Given the description of an element on the screen output the (x, y) to click on. 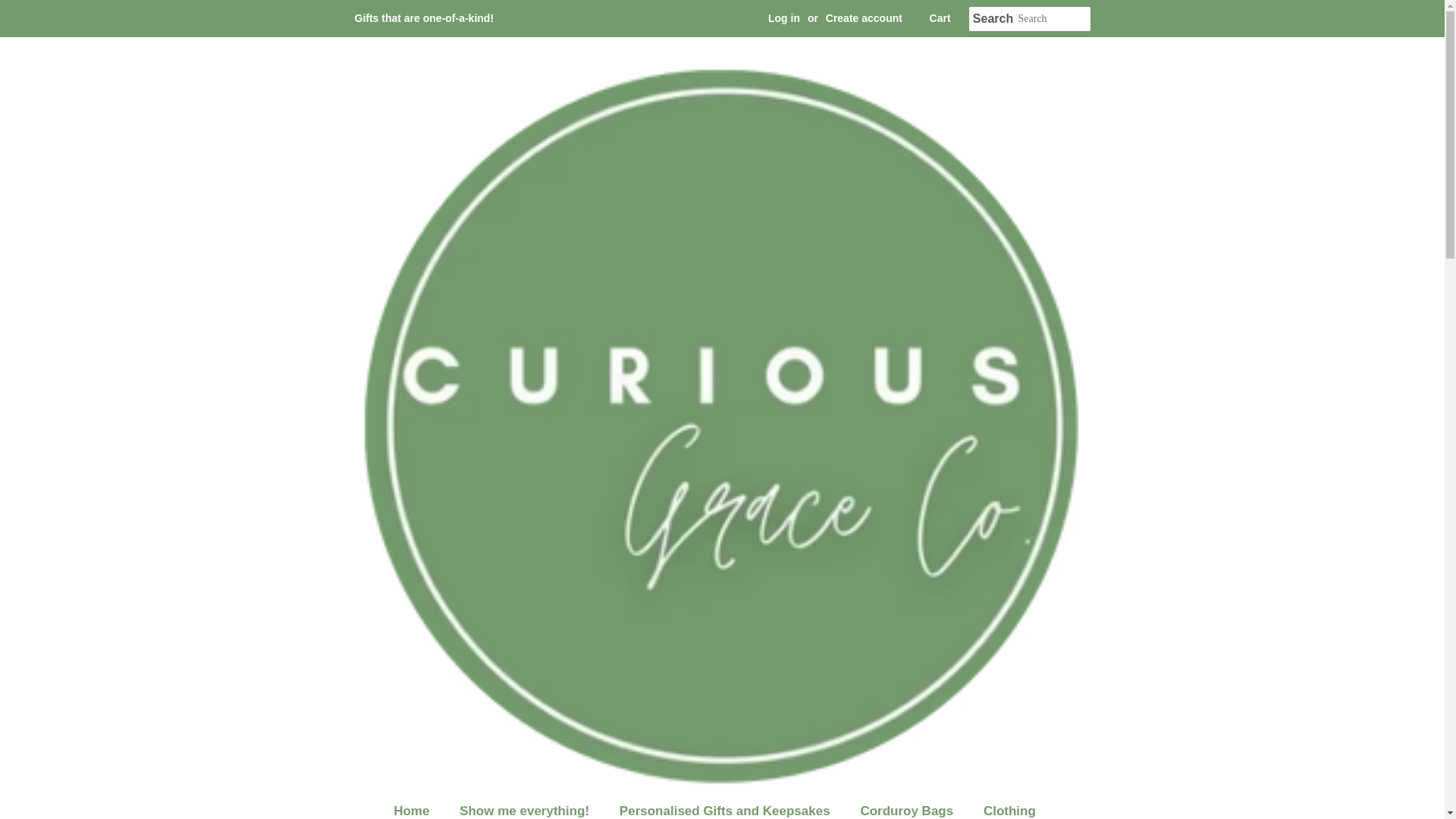
Clothing (1011, 807)
Show me everything! (526, 807)
Personalised Gifts and Keepsakes (726, 807)
Log in (783, 18)
Corduroy Bags (908, 807)
Home (418, 807)
Cart (940, 18)
Gifts that are one-of-a-kind! (425, 18)
Create account (863, 18)
Search (993, 18)
